Given the description of an element on the screen output the (x, y) to click on. 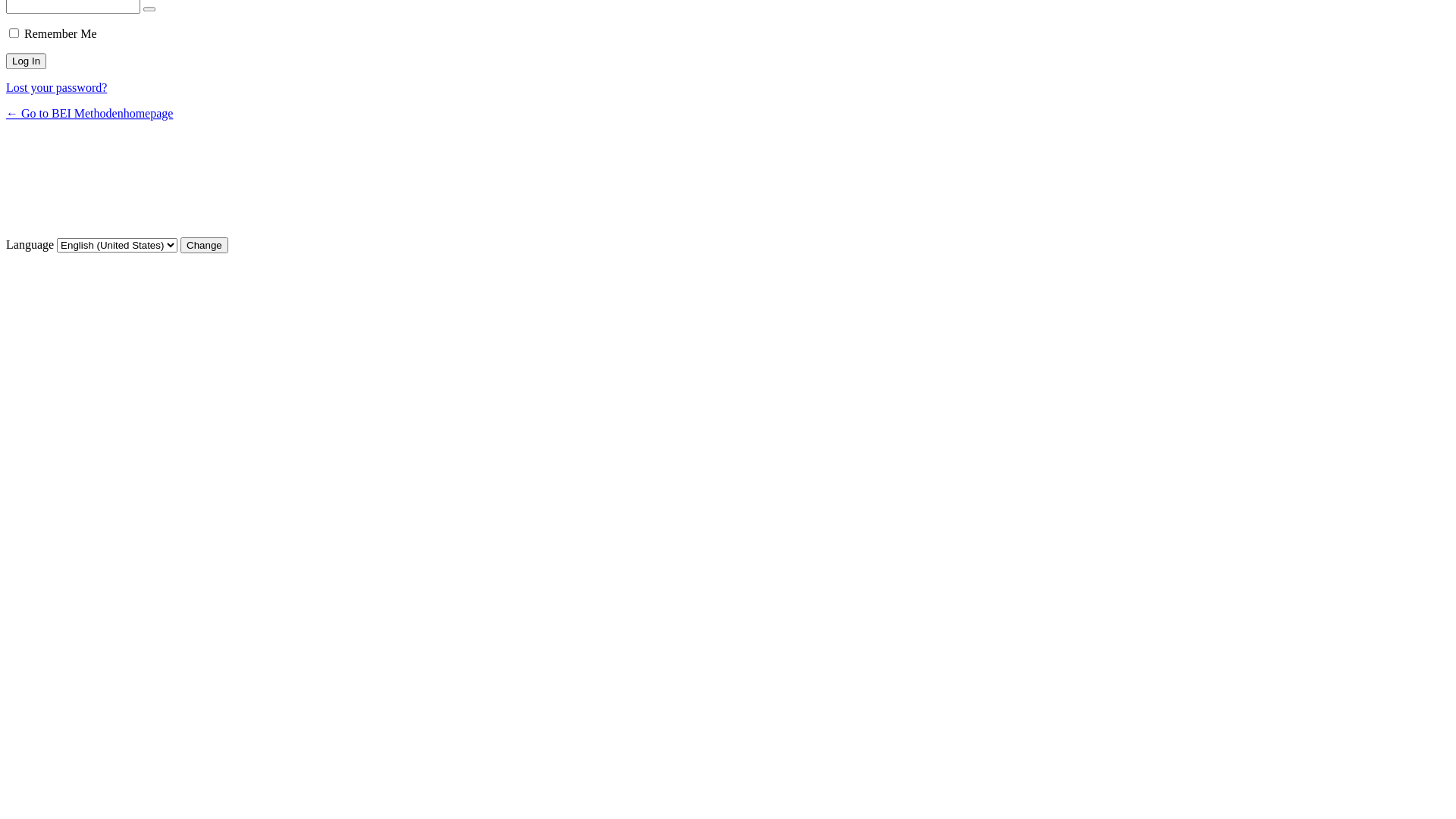
Lost your password? Element type: text (56, 87)
Log In Element type: text (26, 61)
Change Element type: text (204, 245)
